Given the description of an element on the screen output the (x, y) to click on. 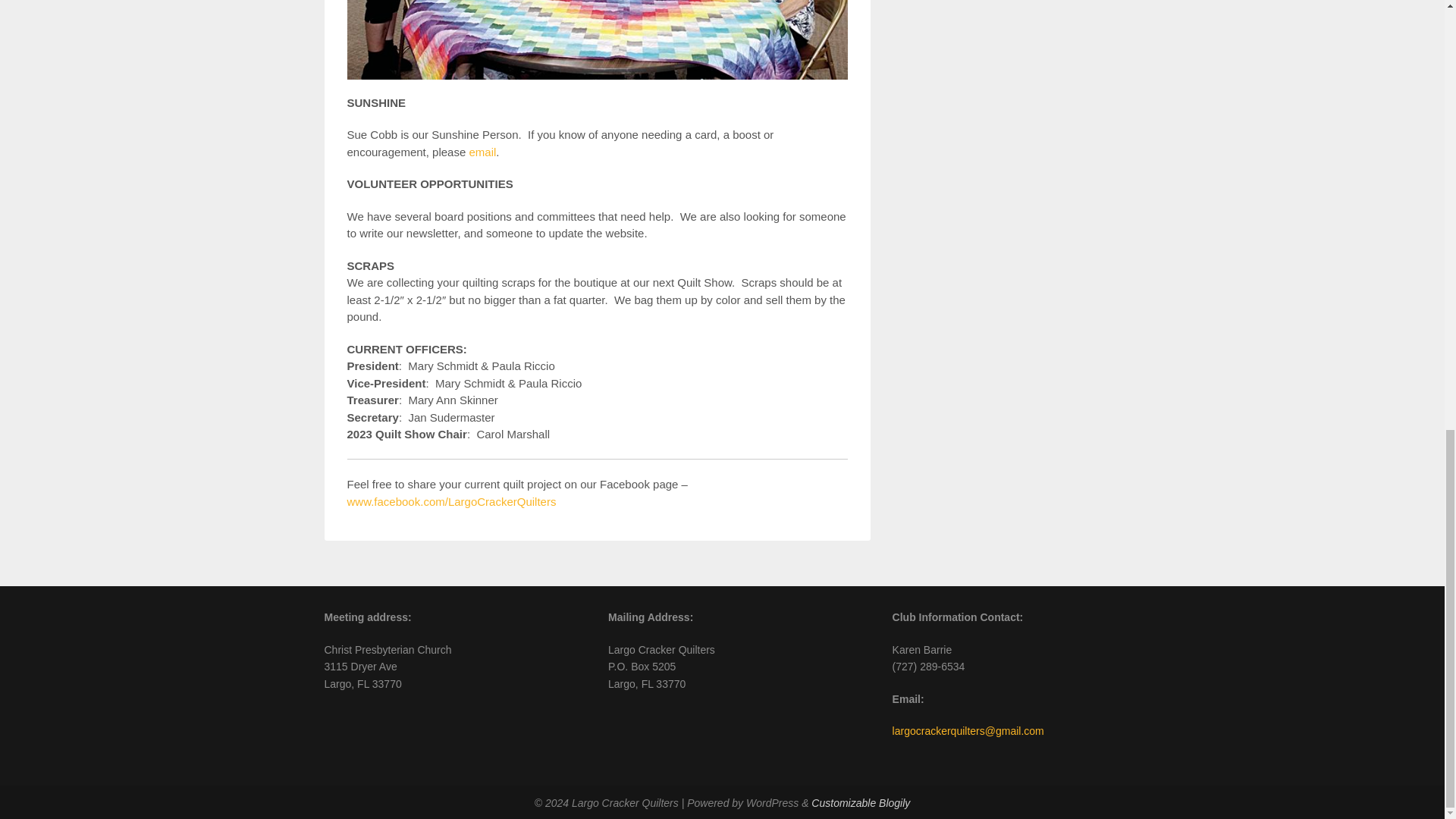
Customizable Blogily (860, 802)
email (482, 151)
